Given the description of an element on the screen output the (x, y) to click on. 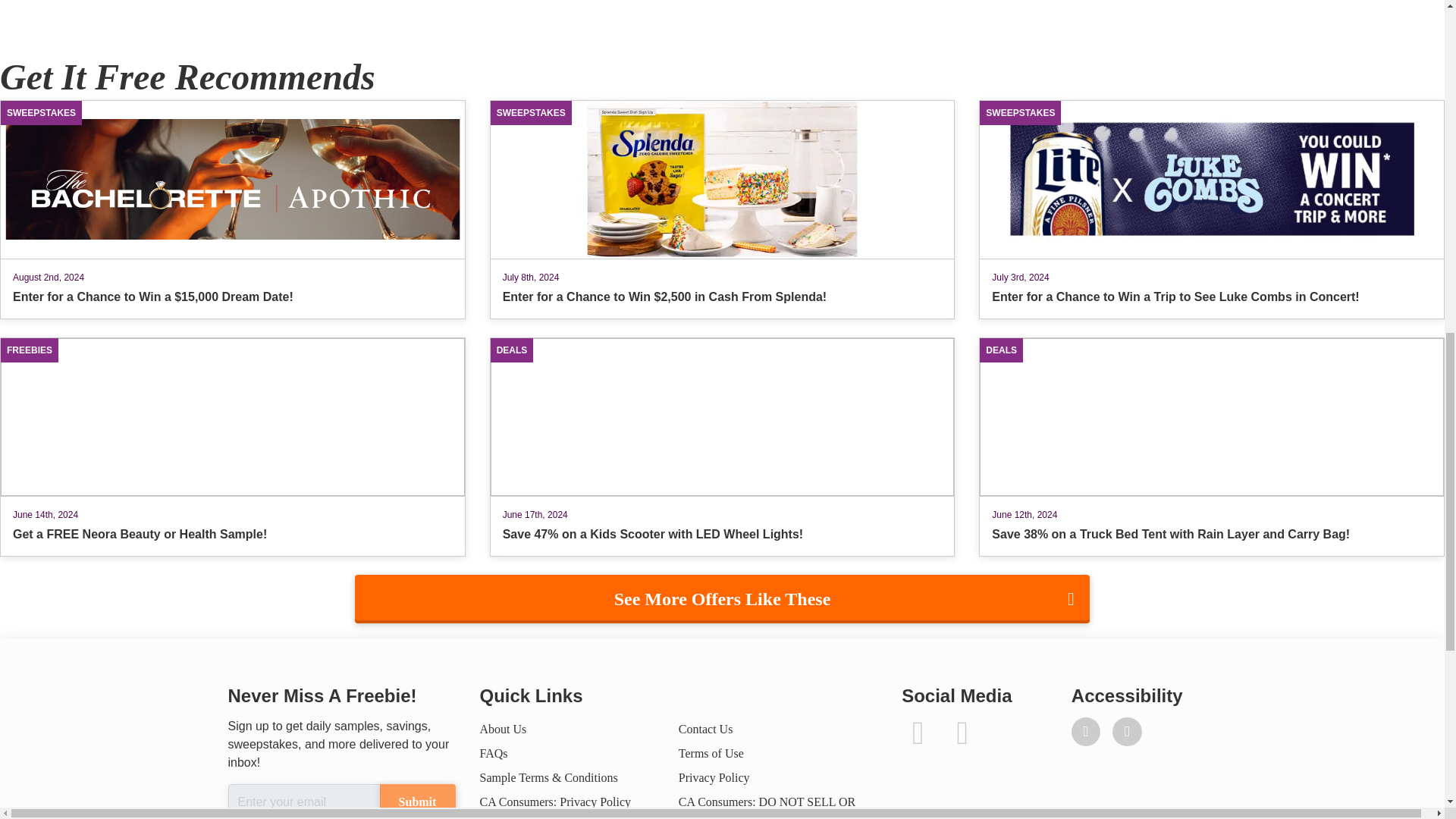
Terms of Use (711, 753)
Share on Facebook (74, 2)
CA Consumers: DO NOT SELL OR SHARE MY PERSONAL INFORMATION (767, 807)
FAQs (492, 753)
About Us (502, 728)
Privacy Policy (713, 777)
Contact Us (705, 728)
See More Offers Like These (722, 598)
CA Consumers: Privacy Policy (554, 801)
Submit (416, 801)
